Given the description of an element on the screen output the (x, y) to click on. 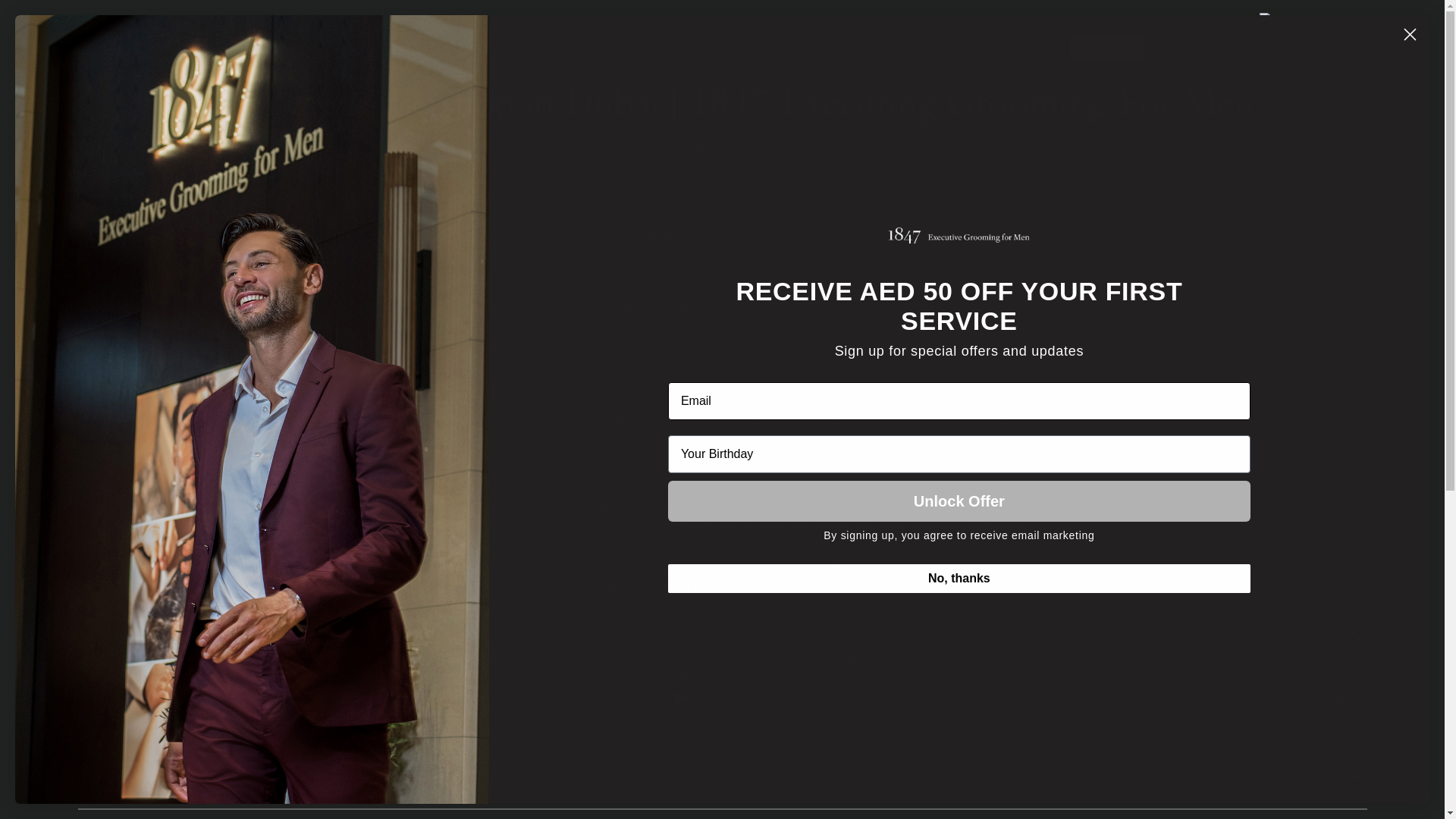
Services Element type: text (755, 46)
Book
Now Element type: text (1353, 718)
Franchise Element type: text (1183, 47)
Buy Products Element type: text (1016, 46)
Price List Element type: text (921, 46)
online store Element type: text (731, 546)
1847 barbers Element type: text (435, 396)
Submit Element type: text (23, 9)
The Best Barber in Dubai | 1847 Executive Grooming for Men Element type: text (399, 776)
voted as the best barbershop Element type: text (540, 195)
Buy Voucher Element type: text (664, 46)
Book Now Element type: text (1106, 47)
Locations Element type: text (837, 46)
No, thanks Element type: text (959, 578)
Close dialog 1 Element type: text (1409, 34)
English (US) Element type: text (1267, 46)
UAE Element type: text (1280, 19)
great haircut Element type: text (703, 637)
Unlock Offer Element type: text (959, 500)
barber shop Element type: text (742, 736)
